Given the description of an element on the screen output the (x, y) to click on. 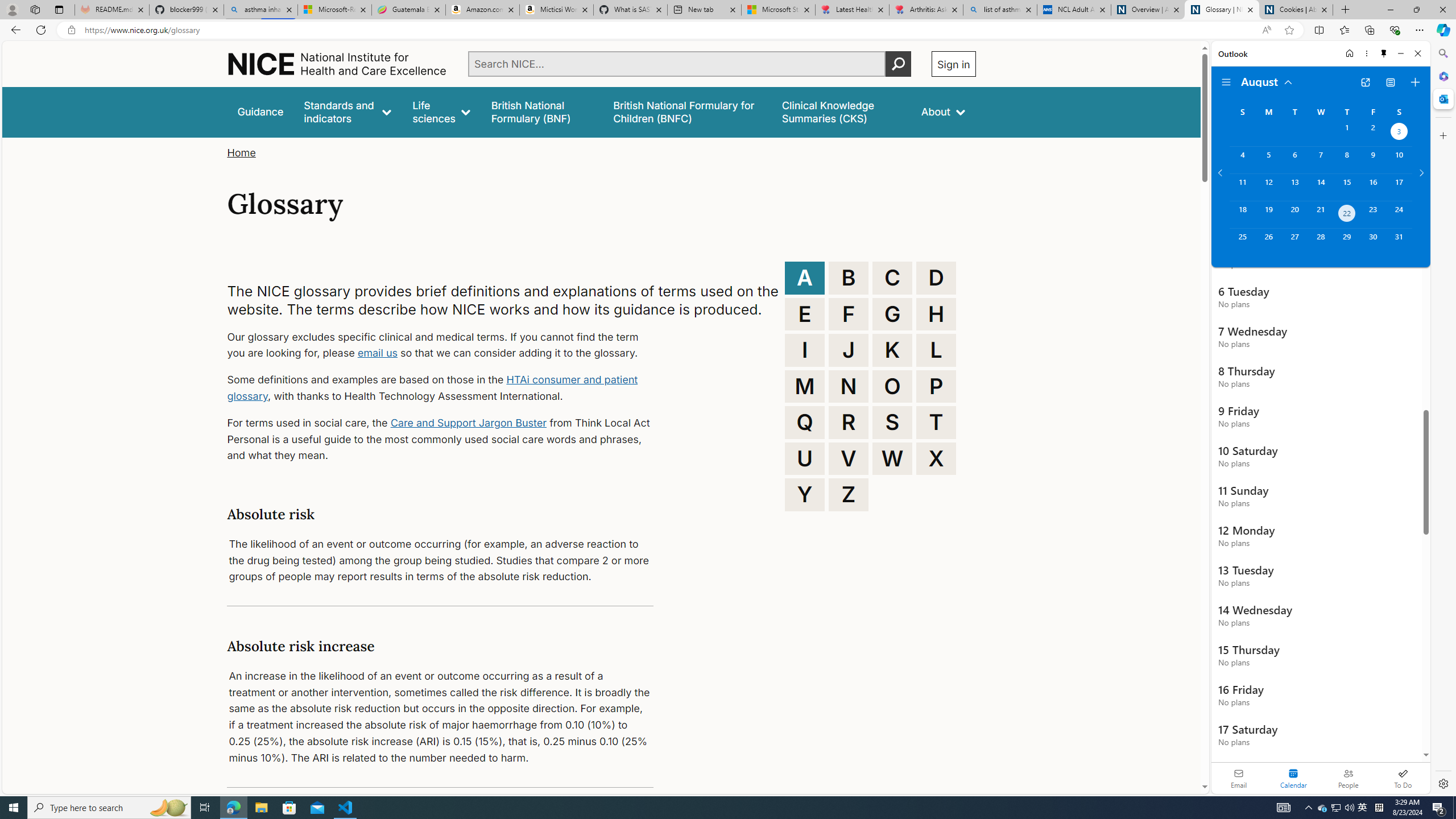
X (935, 458)
T (935, 422)
A (804, 277)
T (935, 422)
Thursday, August 29, 2024.  (1346, 241)
H (935, 313)
